Given the description of an element on the screen output the (x, y) to click on. 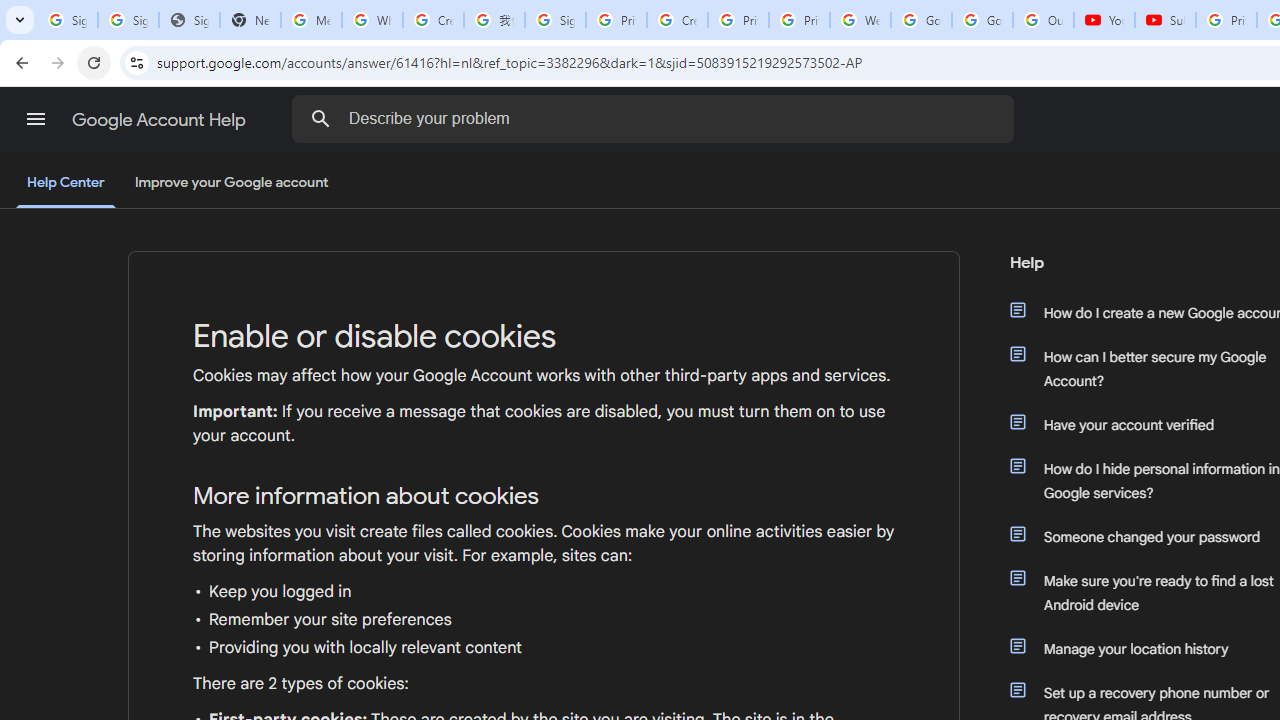
Create your Google Account (676, 20)
Sign in - Google Accounts (128, 20)
Sign In - USA TODAY (189, 20)
Improve your Google account (231, 183)
Who is my administrator? - Google Account Help (372, 20)
YouTube (1104, 20)
Welcome to My Activity (859, 20)
Search the Help Center (320, 118)
Sign in - Google Accounts (67, 20)
